Given the description of an element on the screen output the (x, y) to click on. 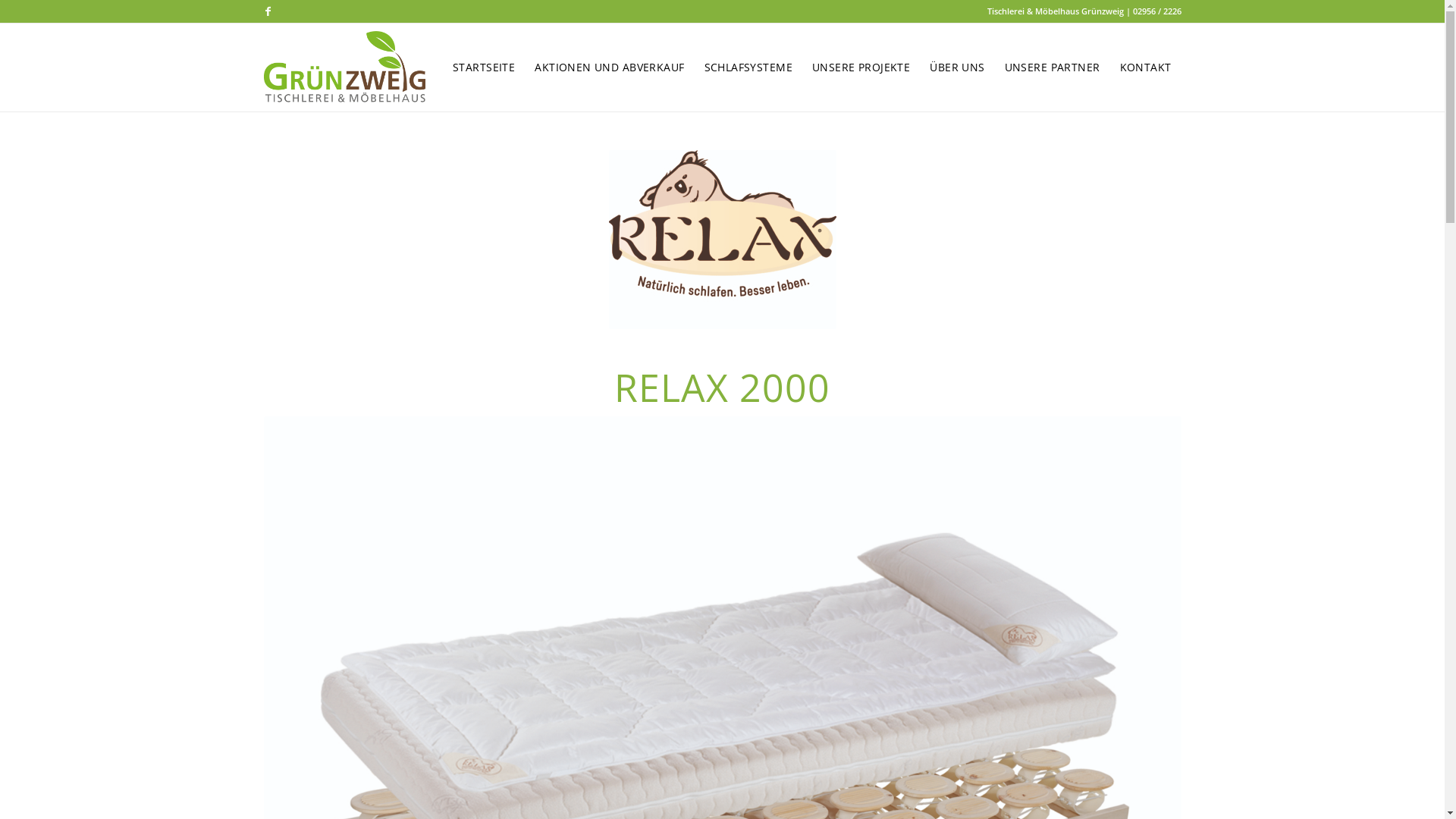
UNSERE PROJEKTE Element type: text (860, 67)
logo-2018-solo Element type: hover (721, 239)
AKTIONEN UND ABVERKAUF Element type: text (608, 67)
SCHLAFSYSTEME Element type: text (748, 67)
STARTSEITE Element type: text (483, 67)
Facebook Element type: hover (267, 11)
KONTAKT Element type: text (1145, 67)
UNSERE PARTNER Element type: text (1052, 67)
